Given the description of an element on the screen output the (x, y) to click on. 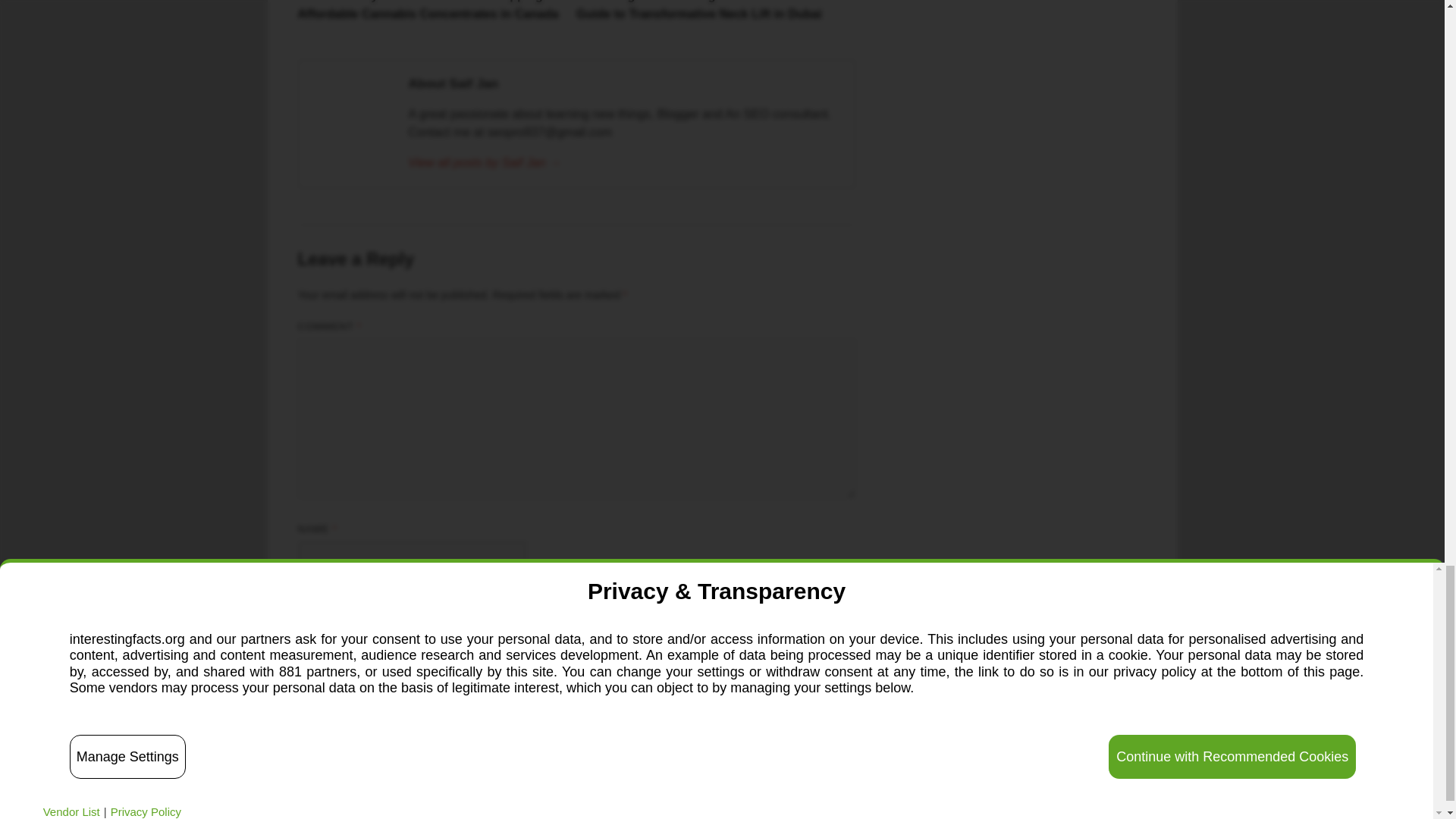
Post Comment (349, 736)
Post Comment (349, 736)
Saif Jan (622, 162)
